Given the description of an element on the screen output the (x, y) to click on. 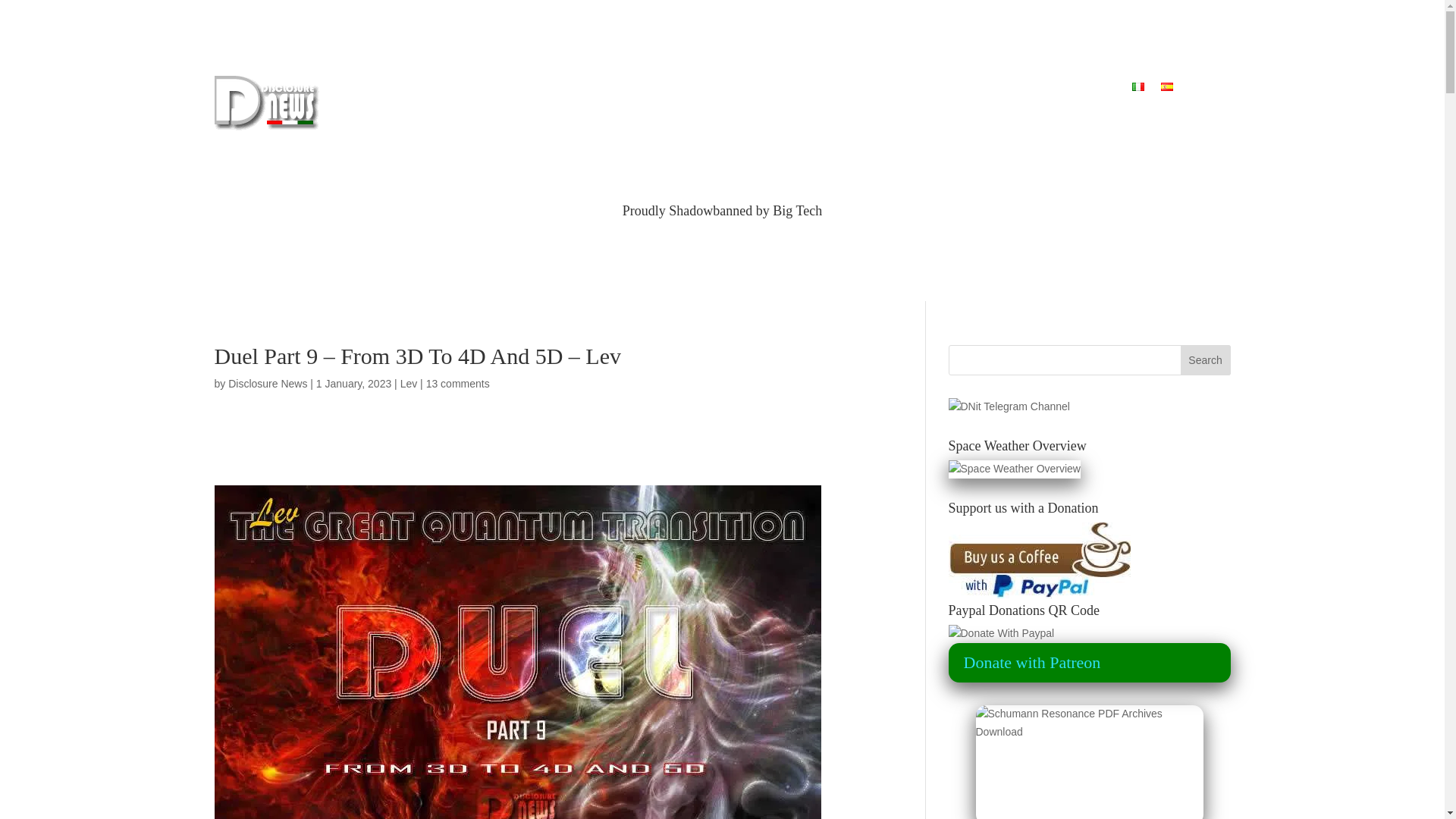
Cintamani Stone (560, 89)
Contacts (1094, 89)
Space WX (1024, 89)
Search (1205, 359)
Pleiades 1 EN (774, 89)
13 comments (457, 383)
Home (482, 89)
Posts by Disclosure News (267, 383)
Disclosure News (267, 383)
